Given the description of an element on the screen output the (x, y) to click on. 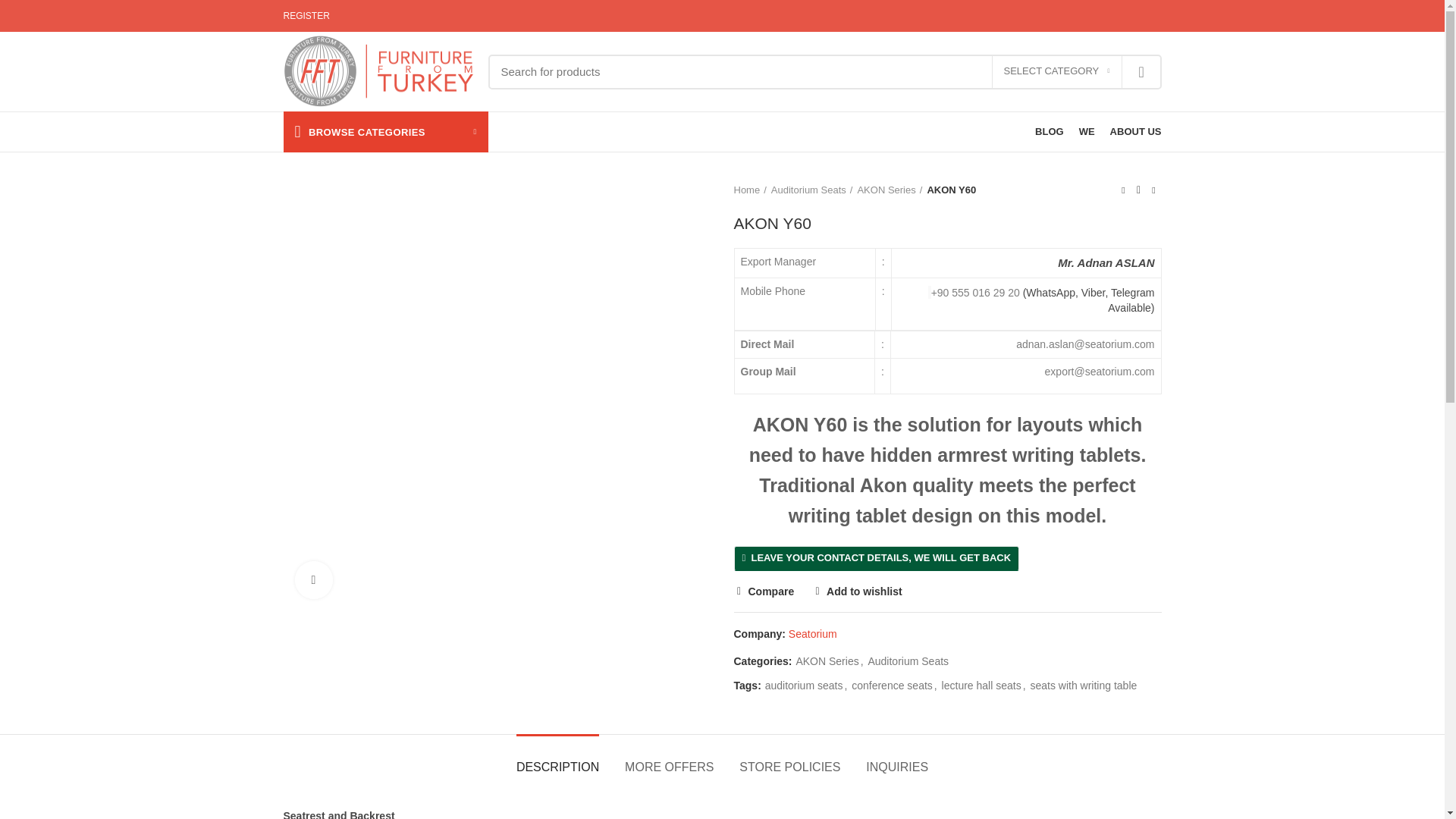
Search for products (824, 71)
REGISTER (306, 15)
SELECT CATEGORY (1056, 71)
SELECT CATEGORY (1056, 71)
